Given the description of an element on the screen output the (x, y) to click on. 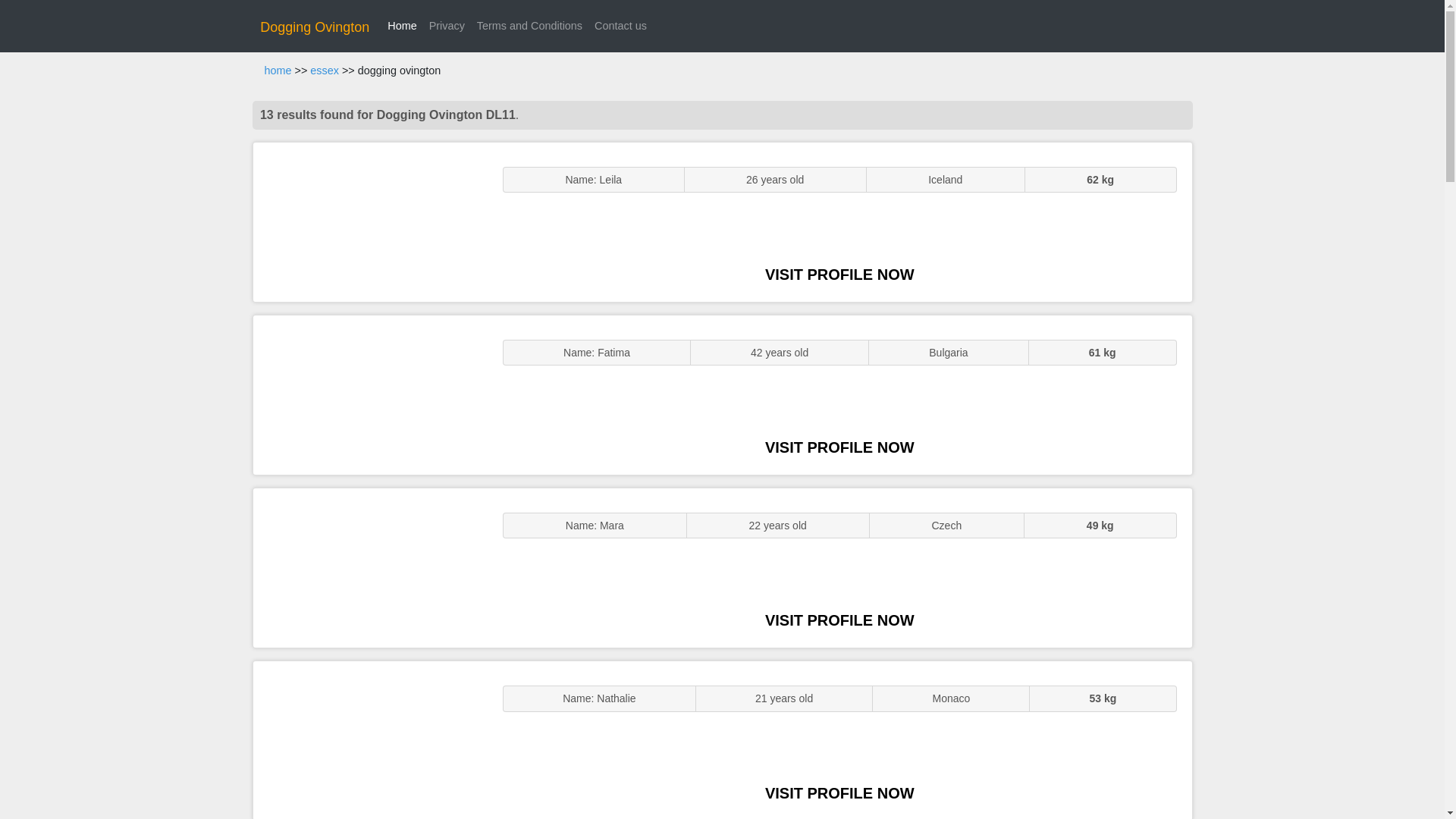
VISIT PROFILE NOW (839, 619)
GFE (370, 395)
 ENGLISH STUNNER (370, 222)
VISIT PROFILE NOW (839, 792)
Sexy (370, 567)
Dogging Ovington (314, 27)
Sluts (370, 739)
essex (324, 70)
VISIT PROFILE NOW (839, 446)
home (277, 70)
